Given the description of an element on the screen output the (x, y) to click on. 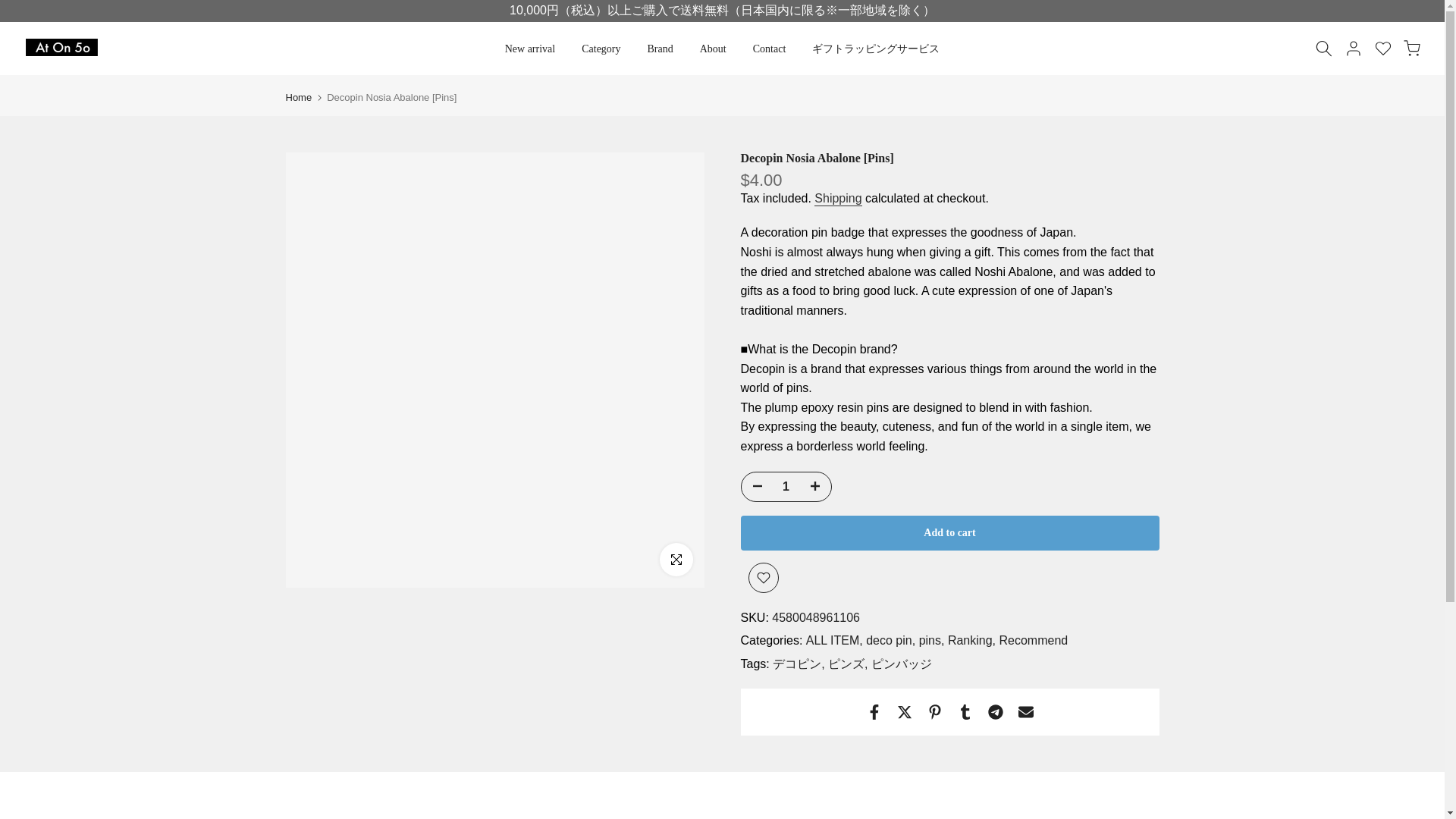
1 (786, 486)
New arrival (529, 49)
Category (601, 49)
Skip to content (10, 7)
Recommend (1033, 640)
Ranking (971, 640)
ALL ITEM (834, 640)
About (712, 49)
Contact (769, 49)
Add to cart (948, 532)
